Given the description of an element on the screen output the (x, y) to click on. 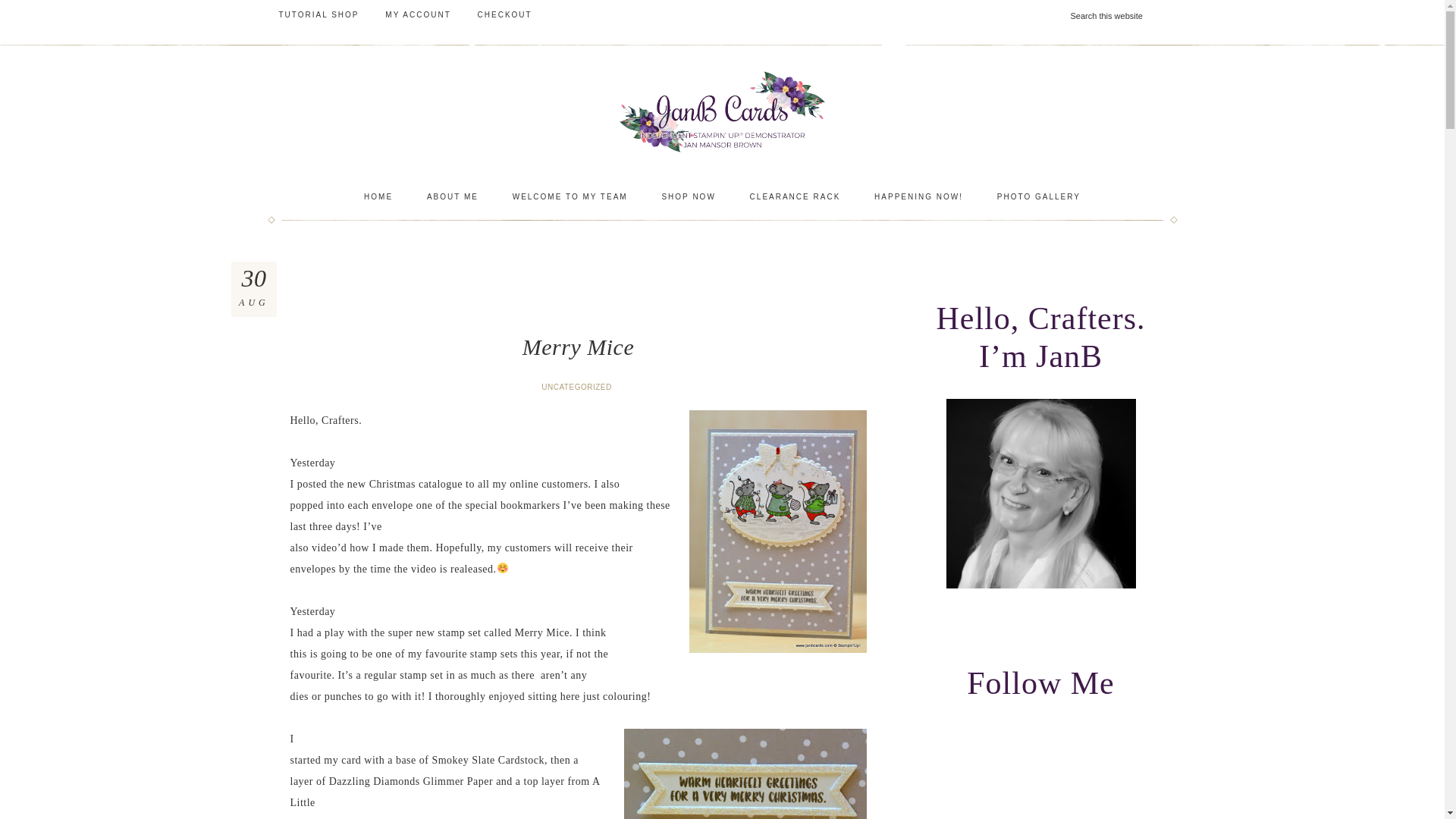
HOME (378, 197)
SHOP NOW (688, 197)
PHOTO GALLERY (1038, 197)
UNCATEGORIZED (577, 387)
CHECKOUT (504, 15)
HAPPENING NOW! (918, 197)
WELCOME TO MY TEAM (570, 197)
ABOUT ME (452, 197)
CLEARANCE RACK (795, 197)
MY ACCOUNT (418, 15)
TUTORIAL SHOP (317, 15)
JANB CARDS (721, 111)
